Given the description of an element on the screen output the (x, y) to click on. 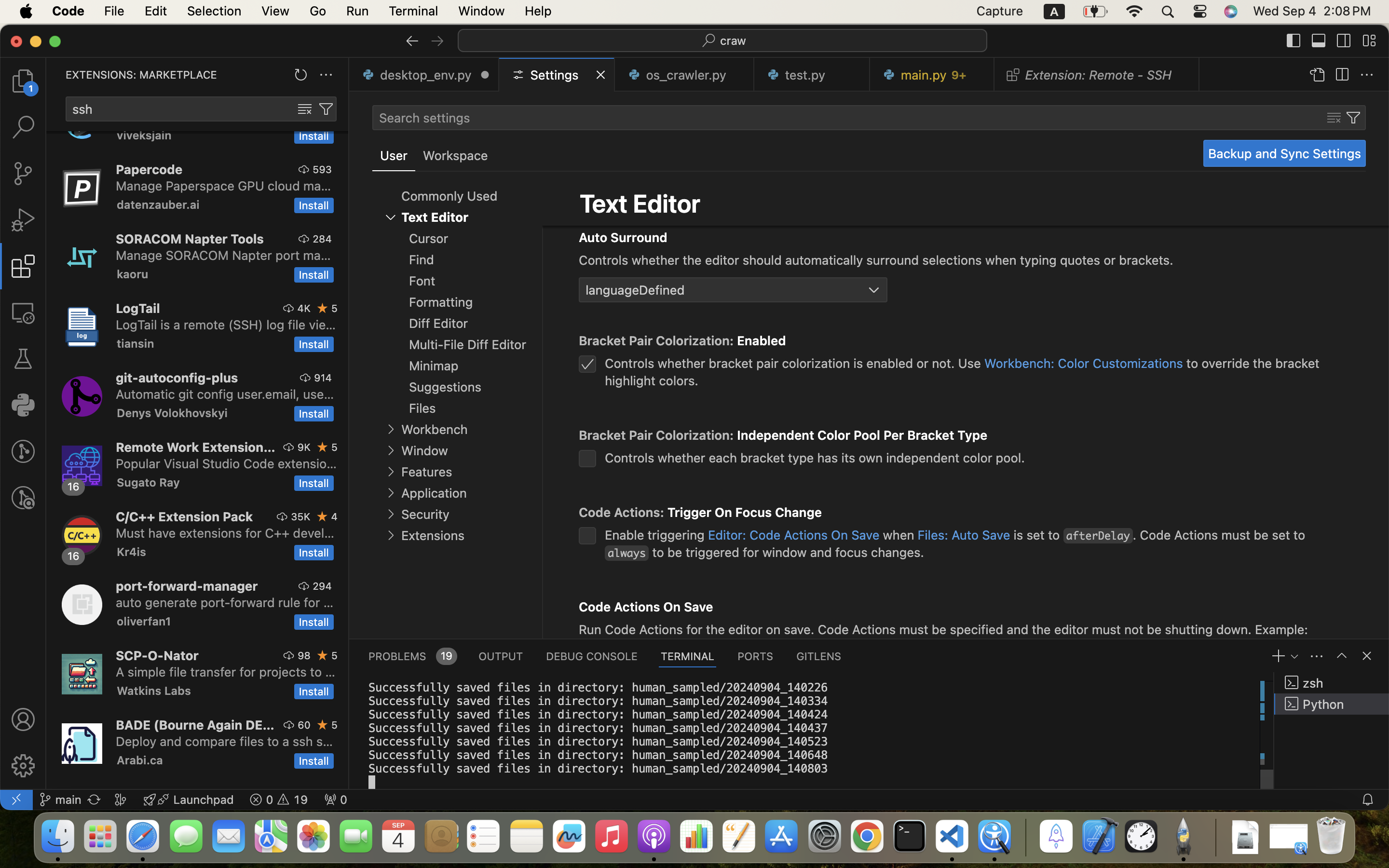
is set to Element type: AXStaticText (1036, 534)
datenzauber.ai Element type: AXStaticText (157, 204)
0 OUTPUT Element type: AXRadioButton (500, 655)
Papercode Element type: AXStaticText (149, 169)
Workbench: Color Customizations Element type: AXStaticText (1083, 362)
